Given the description of an element on the screen output the (x, y) to click on. 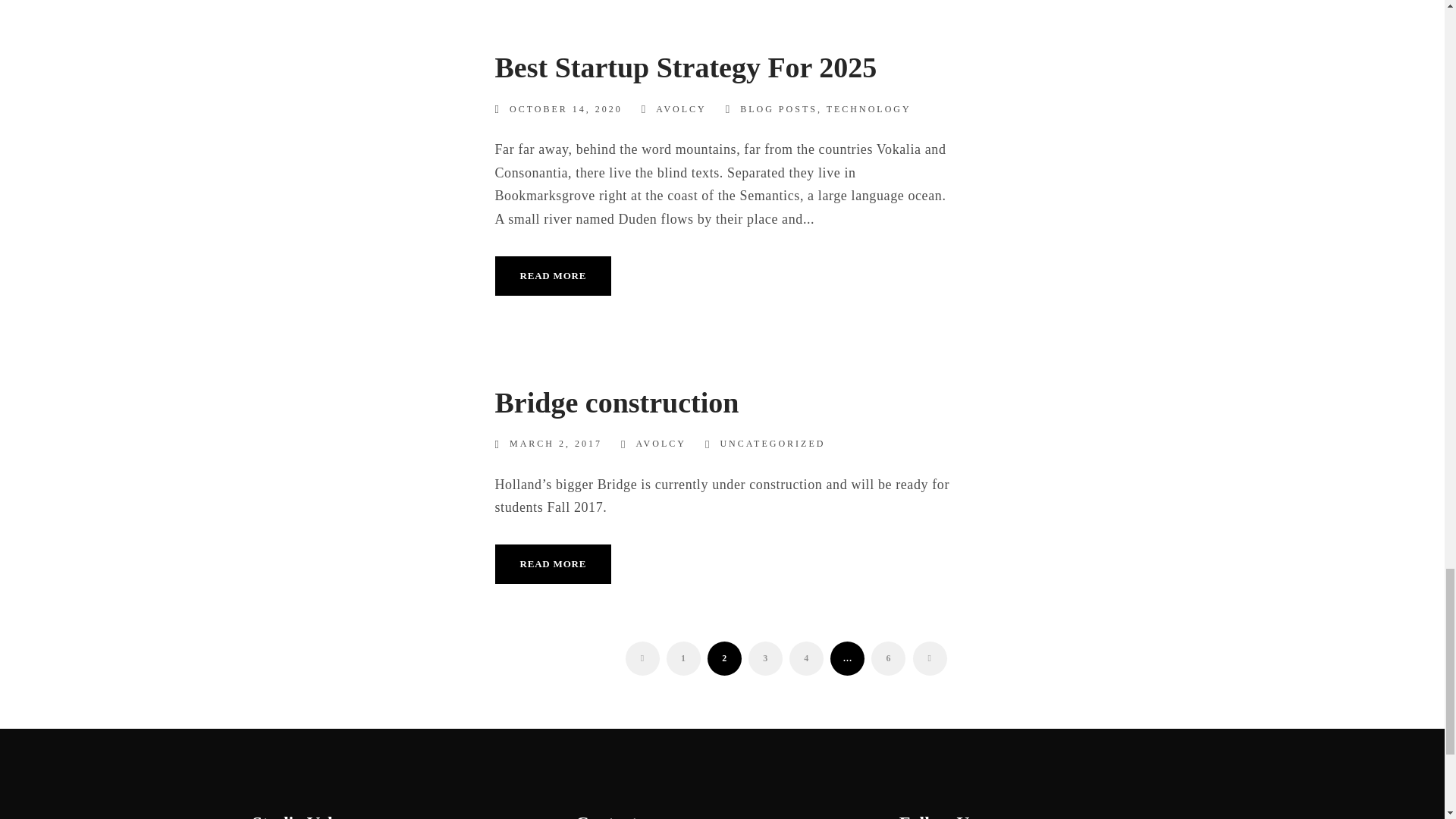
Posts by avolcy (681, 109)
Posts by avolcy (659, 443)
